Given the description of an element on the screen output the (x, y) to click on. 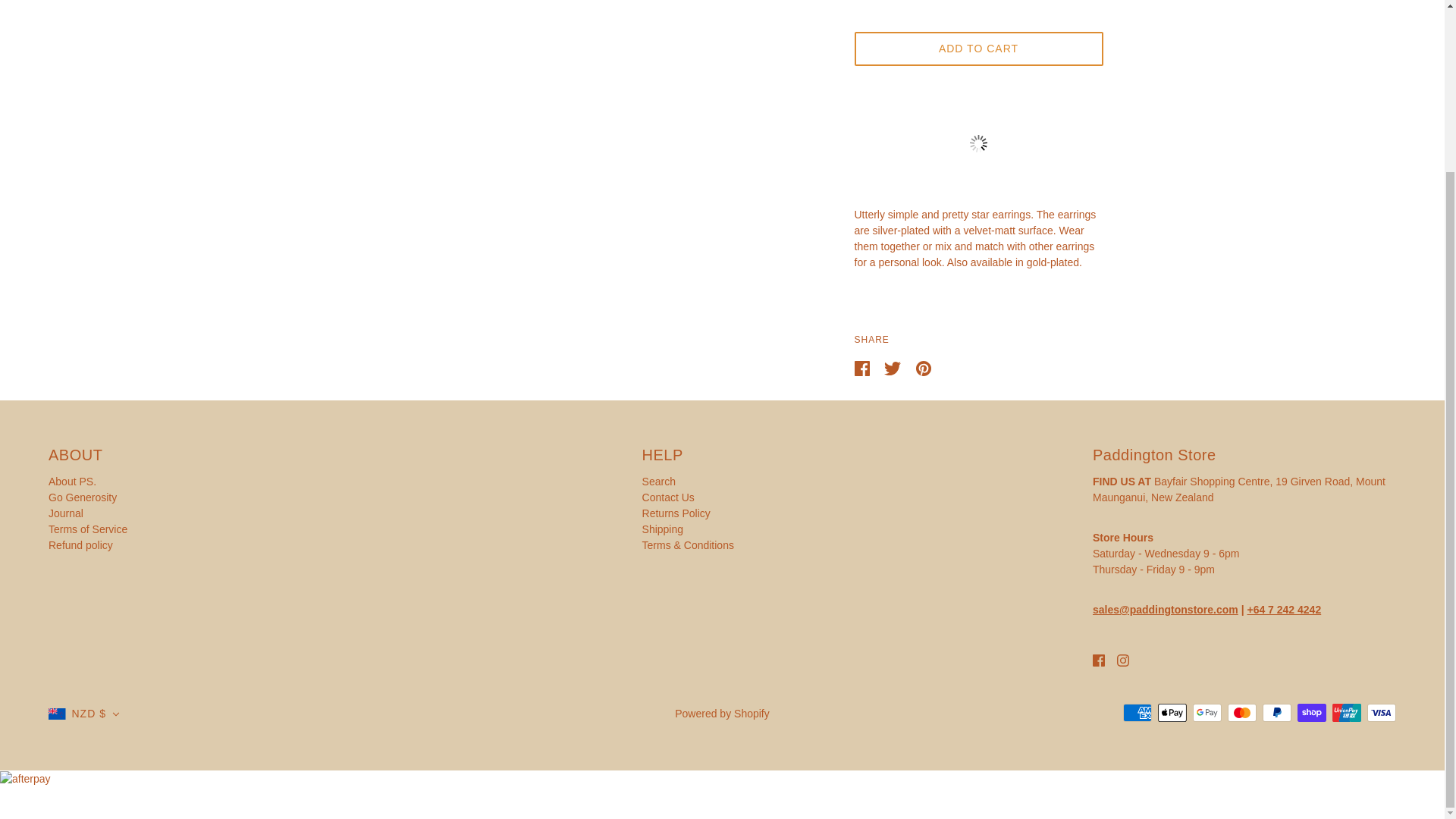
Returns Policy (676, 512)
Visa (1381, 712)
Shipping (663, 529)
Apple Pay (1171, 712)
Google Pay (1206, 712)
Union Pay (1346, 712)
Go Generosity (82, 497)
About PS. (72, 481)
PayPal (1276, 712)
Mastercard (1241, 712)
Shop Pay (1311, 712)
Contact Us (668, 497)
Search (658, 481)
Terms of Service (88, 529)
Refund policy (80, 544)
